Given the description of an element on the screen output the (x, y) to click on. 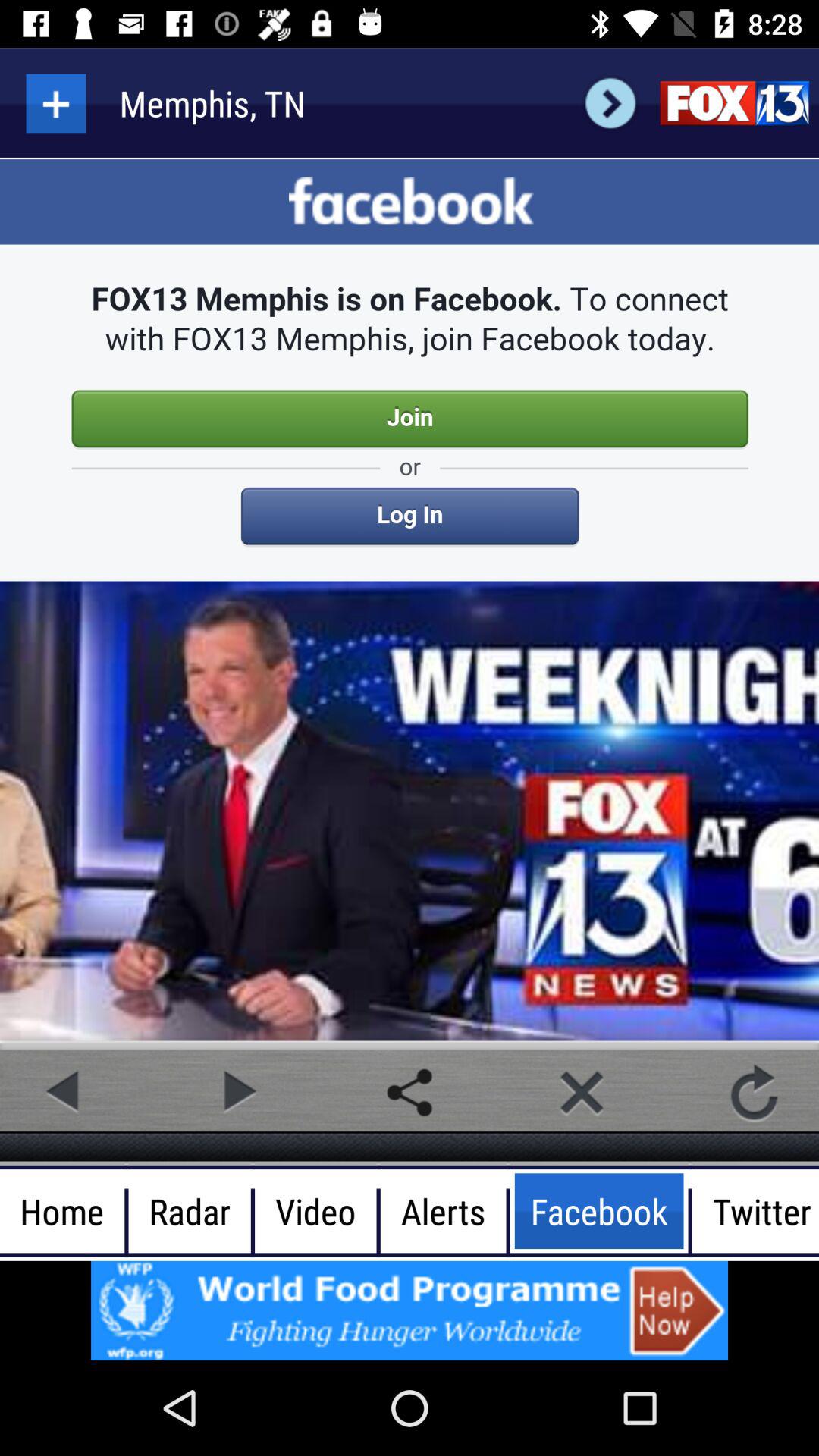
description (409, 601)
